Given the description of an element on the screen output the (x, y) to click on. 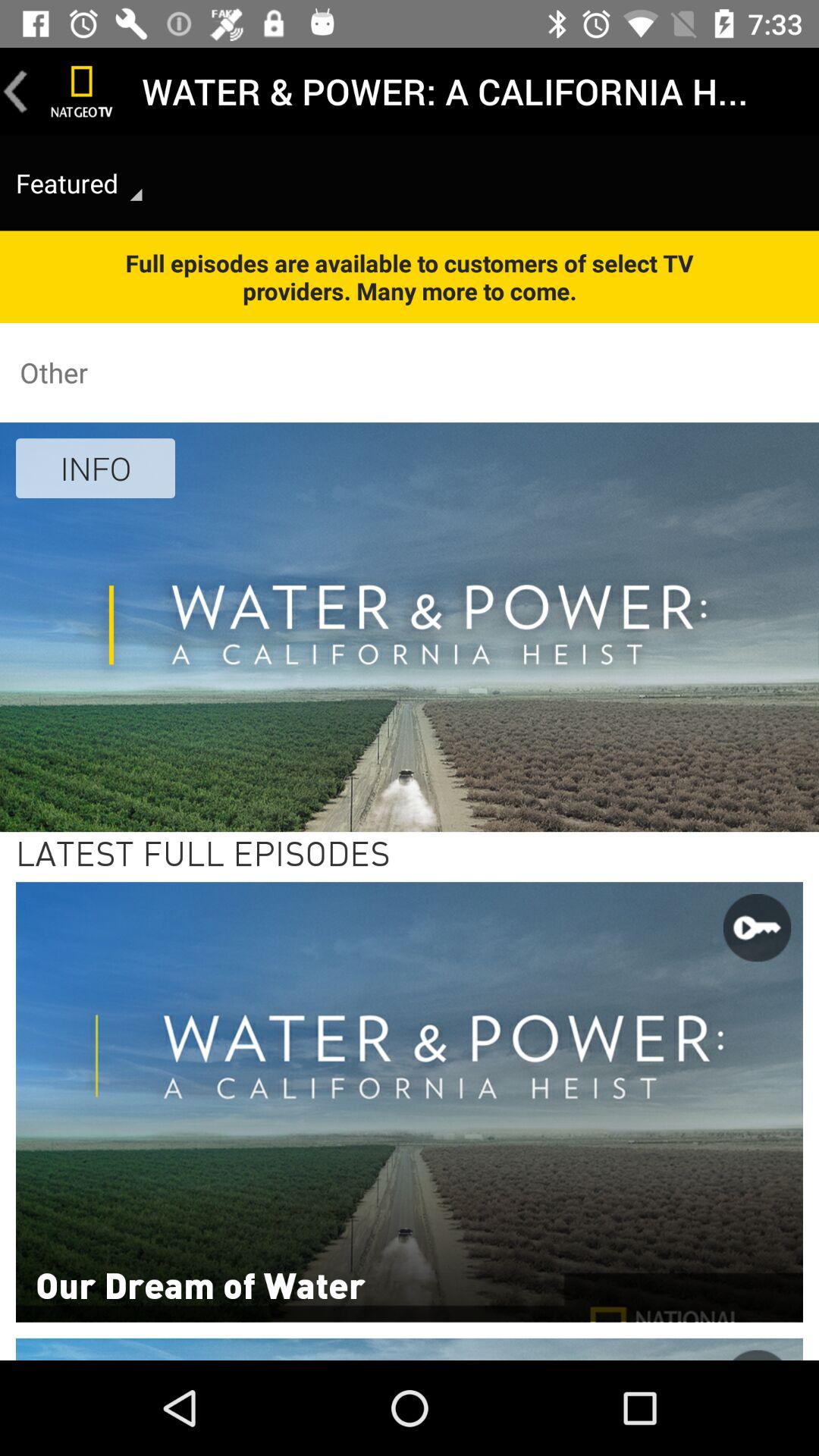
open the icon below the latest full episodes (200, 1284)
